Given the description of an element on the screen output the (x, y) to click on. 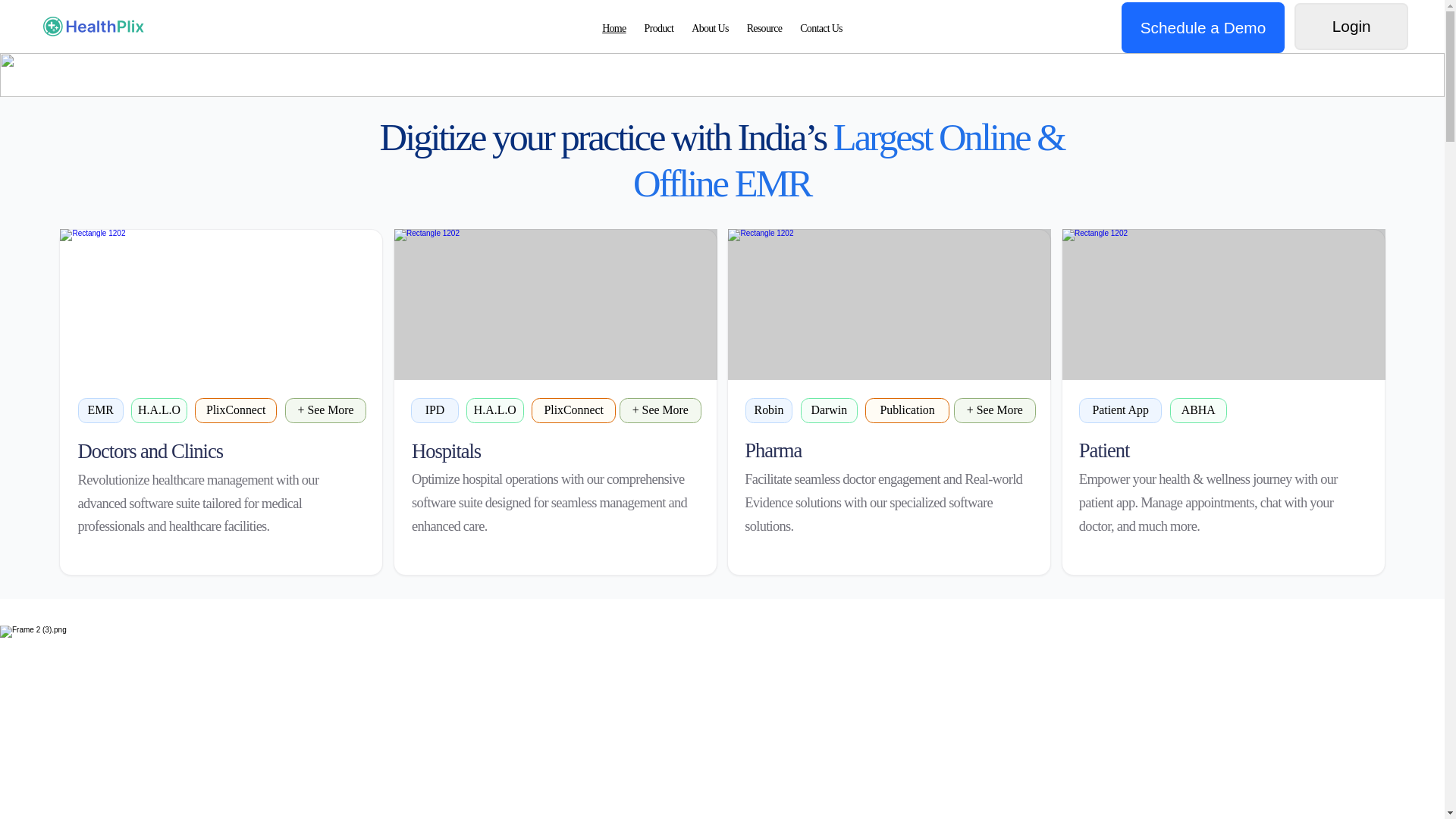
Login (1350, 26)
Product (659, 28)
Home (613, 28)
Contact Us (820, 28)
About Us (709, 28)
Resource (764, 28)
Schedule a Demo (722, 28)
